Given the description of an element on the screen output the (x, y) to click on. 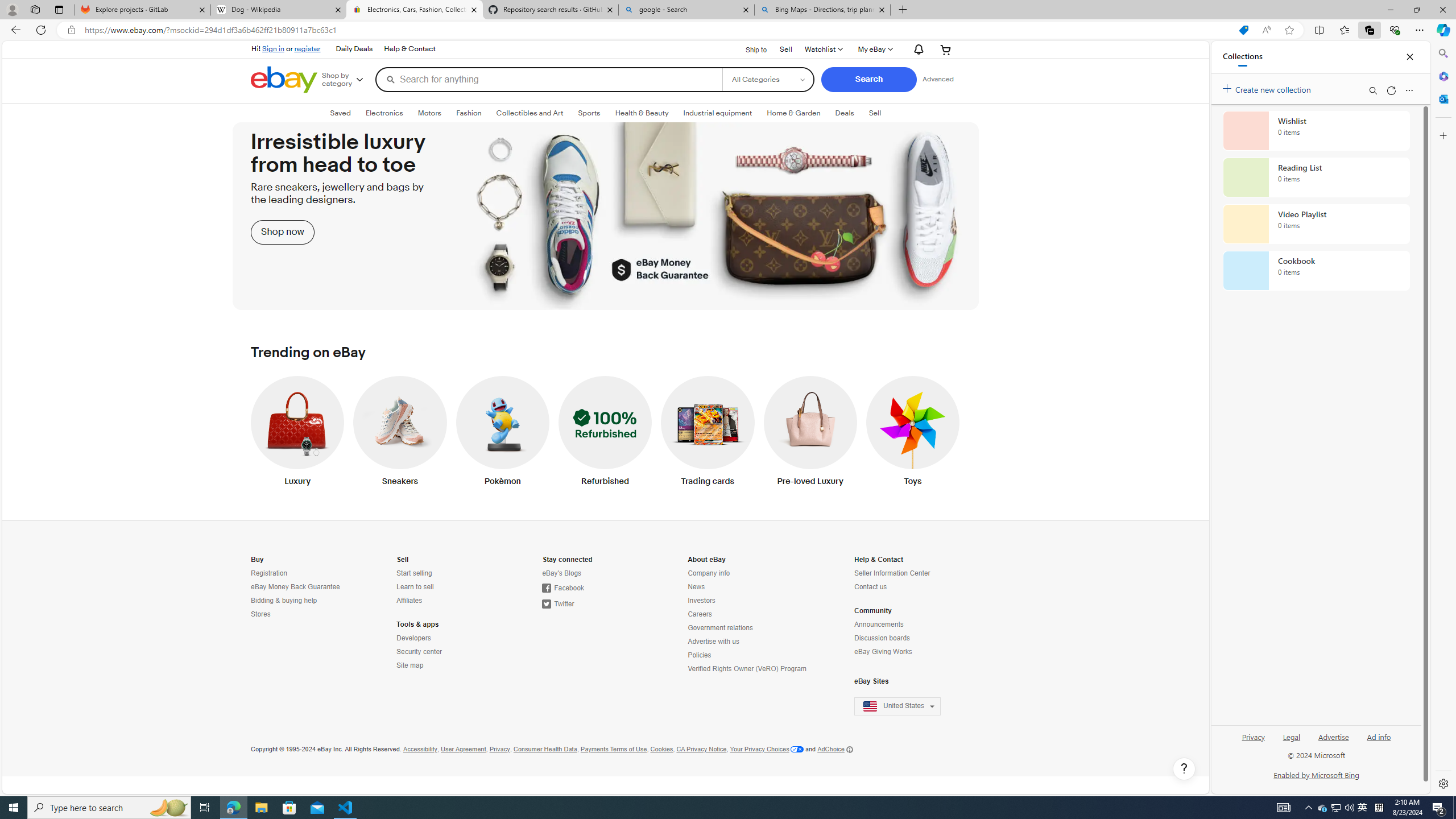
Search for anything (548, 78)
eBay Giving Works (904, 652)
Affiliates (409, 600)
Help & Contact (879, 559)
Advertise with us (748, 641)
Careers (699, 614)
Policies (748, 655)
Motors (429, 112)
